Given the description of an element on the screen output the (x, y) to click on. 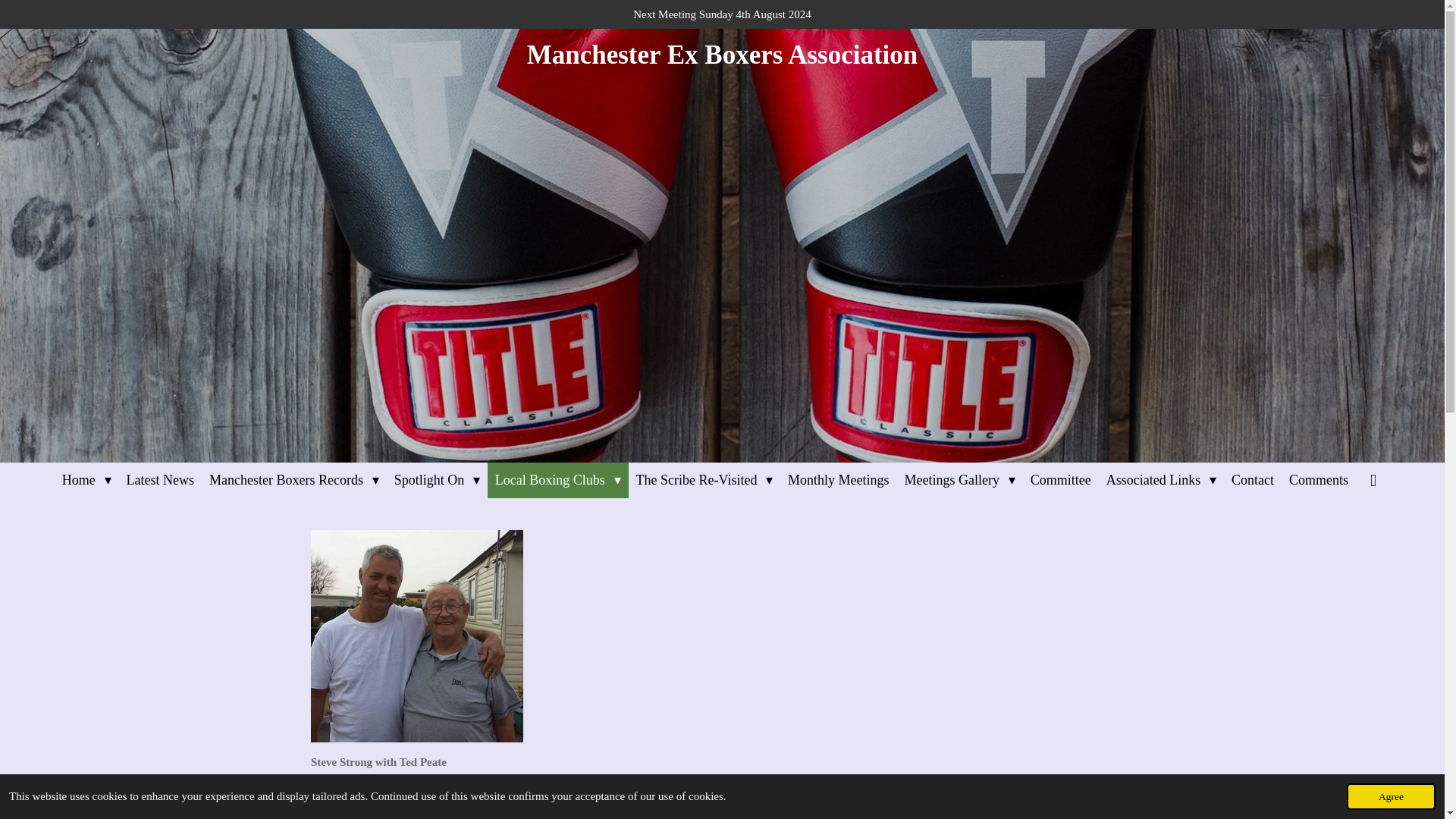
Manchester Boxers Records (294, 479)
Manchester Ex Boxers Association (722, 53)
Home (87, 479)
Search (1372, 479)
Latest News (160, 479)
Spotlight On (437, 479)
